Given the description of an element on the screen output the (x, y) to click on. 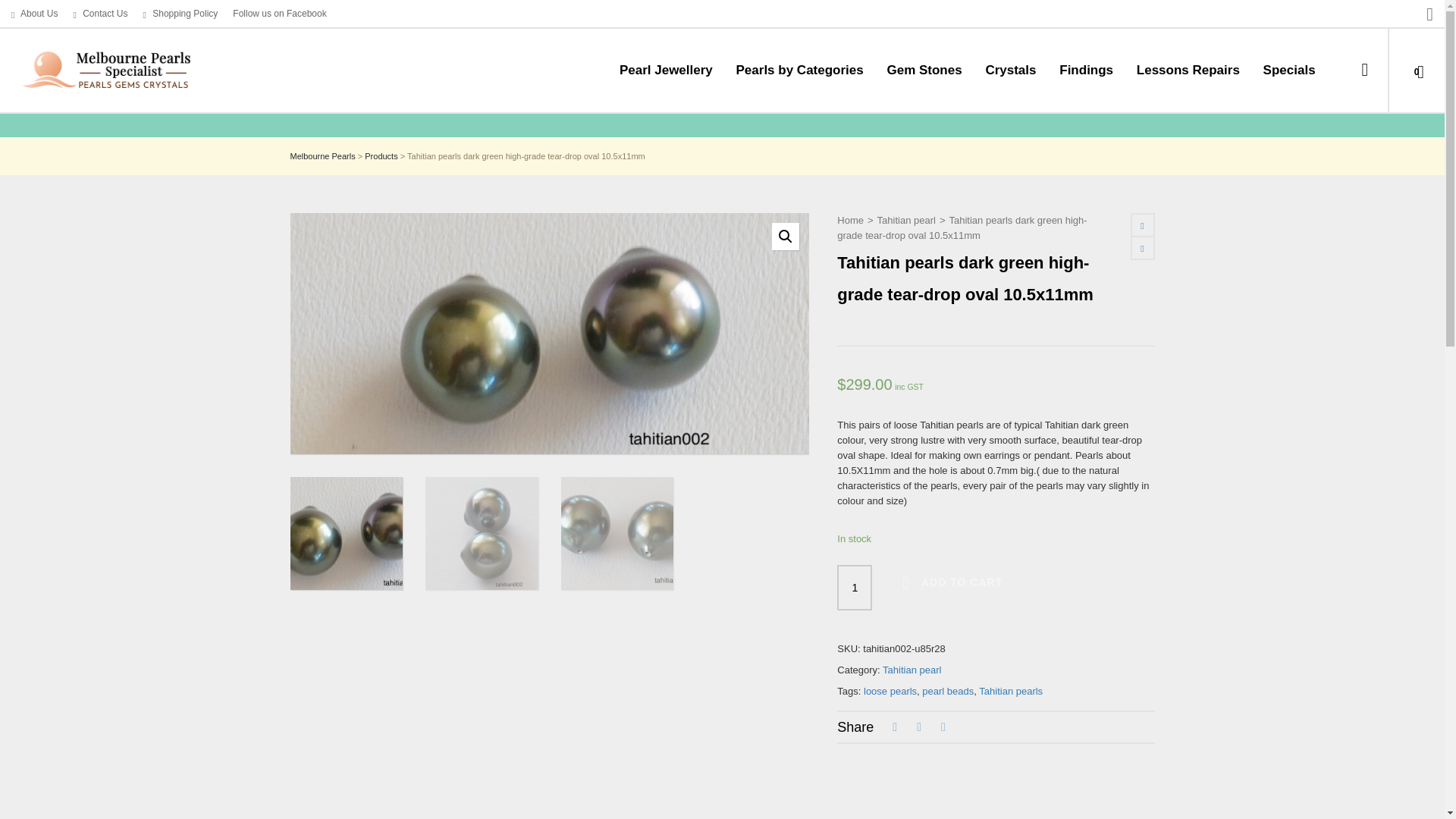
Go to Melbourne Pearls. (322, 155)
View your shopping cart (1411, 70)
1 (854, 587)
Go to Products. (381, 155)
Qty (854, 587)
